Given the description of an element on the screen output the (x, y) to click on. 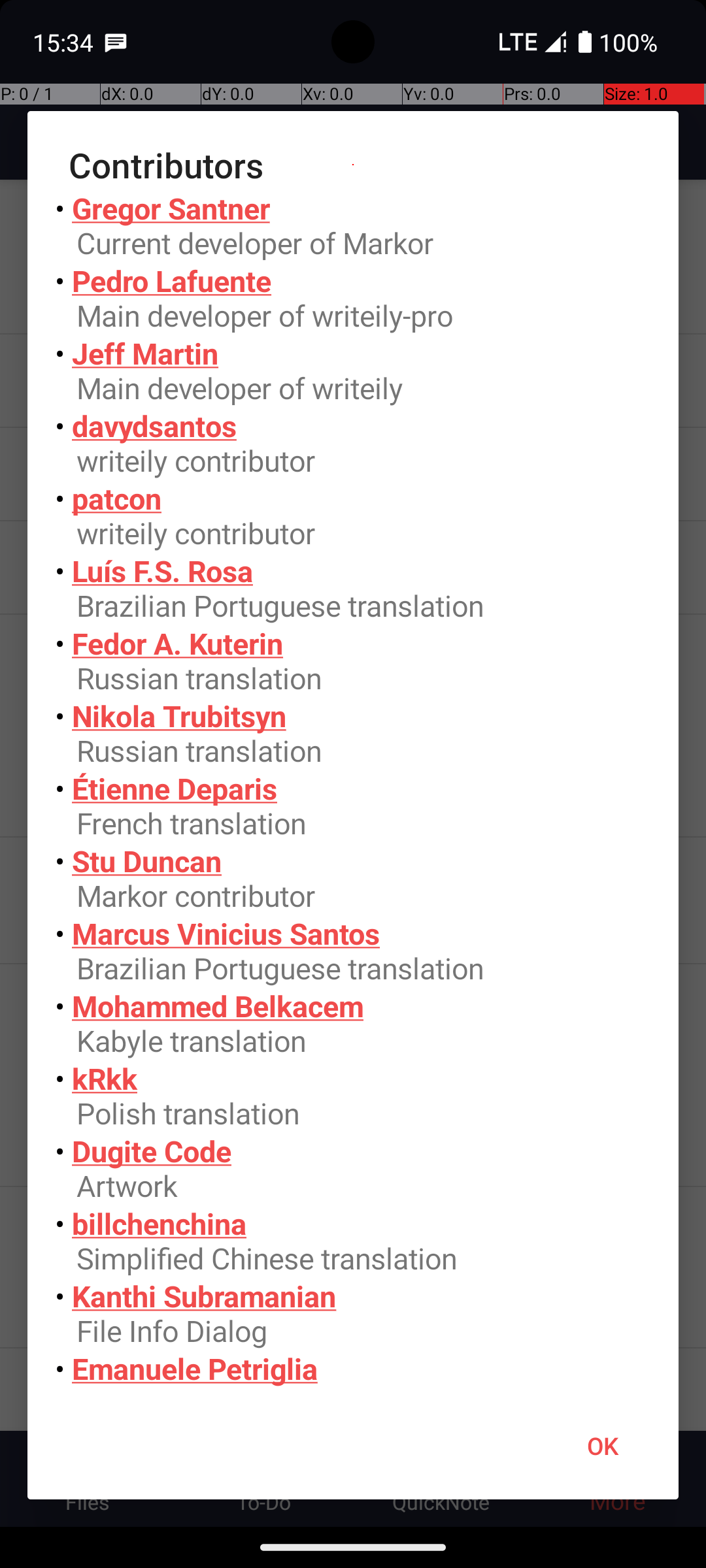
• Gregor Santner
   Current developer of Markor
• Pedro Lafuente
   Main developer of writeily-pro
• Jeff Martin
   Main developer of writeily
• davydsantos
   writeily contributor
• patcon
   writeily contributor
• Luís F.S. Rosa
   Brazilian Portuguese translation
• Fedor A. Kuterin
   Russian translation
• Nikola Trubitsyn
   Russian translation
• Étienne Deparis
   French translation
• Stu Duncan
   Markor contributor
• Marcus Vinicius Santos
   Brazilian Portuguese translation
• Mohammed Belkacem
   Kabyle translation
• kRkk
   Polish translation
• Dugite Code
   Artwork
• billchenchina
   Simplified Chinese translation
• Kanthi Subramanian
   File Info Dialog
• Emanuele Petriglia
   Italian translation
• Tiago Danin
   Brazilian Portuguese translation
• Jesica Chu
   Spanish and Traiditonal Chinese translation
• Ankush S Shetkar
   Added Chrome custom tabs for urls
• Lars Pontoppidan
   Danish translation
• Amaya Lim
   Improve project description
• Jawkwon Im
   Add keep screen on
• Mark Goldman
   Added sorting for todo.txt, improved wiki
• natanelho
   Hebrew translation
• Alexander Sachse
   Added simple word counter
• Kyle Phelps
   Added functionality to share multiple files from file browser
• Vladislav Glinsky
   Ukrainian/Russian translations
• David Hebbeker
   Added tooltips for text actions.
• Harshad Srinivasan
   Added functionality to handle leading spaces in lists.
• Niels
   Added encryption for textfile contents.
• Helguli
   Added fast scroll to editor.
• Patricia Heimfarth
   Added checkbox for todo completion date
• Peter Schwede
   Added Zim-Wiki support.
• Frederic Jacob
   Added Zim-Wiki highlighting, text actions, view mode, page creation.
• Winston Feng
   Support spaces in URL.
• k3b
   Added CSV-Support.
 Element type: android.widget.TextView (352, 790)
